Given the description of an element on the screen output the (x, y) to click on. 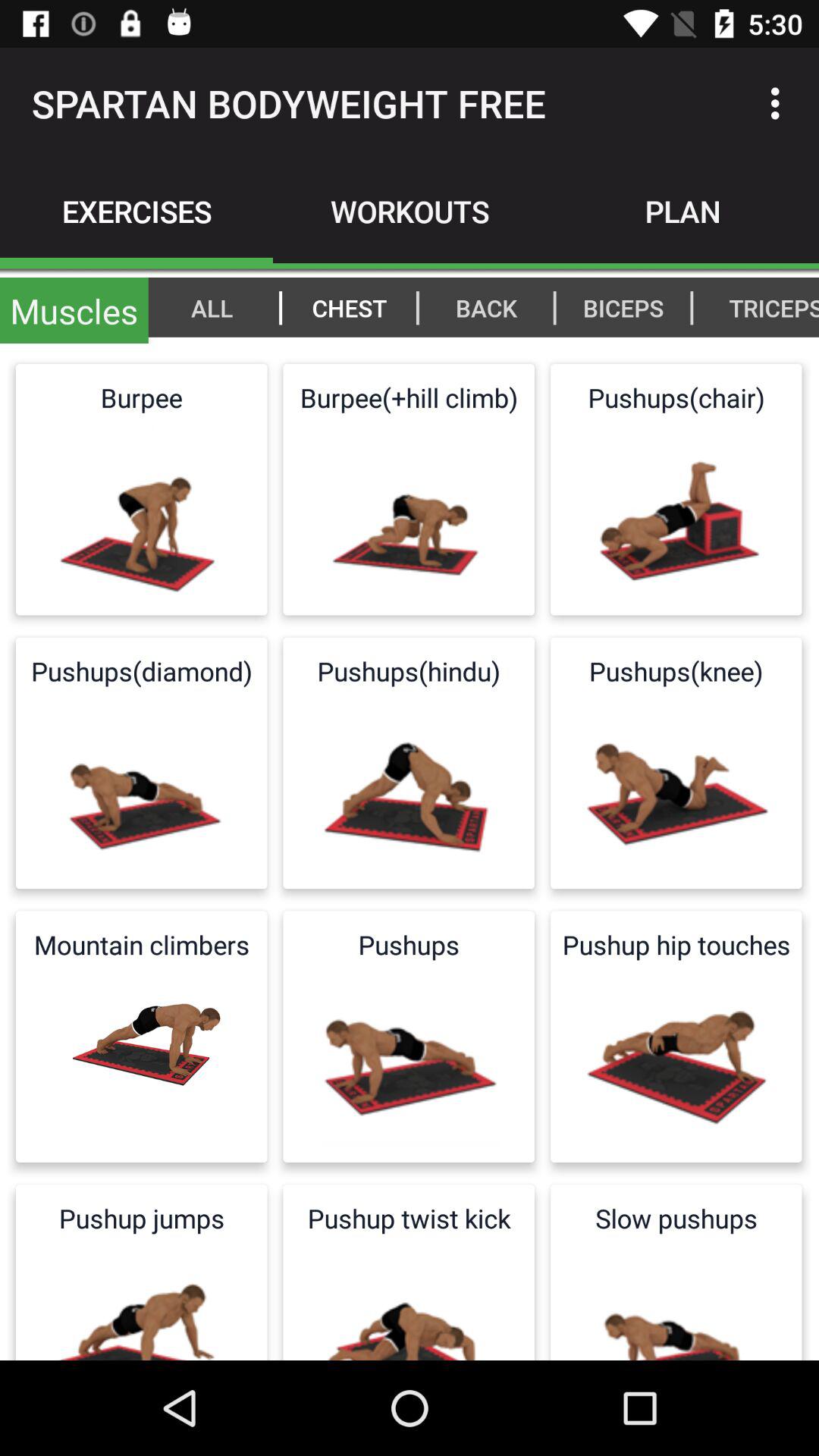
select the item next to spartan bodyweight free item (779, 103)
